Given the description of an element on the screen output the (x, y) to click on. 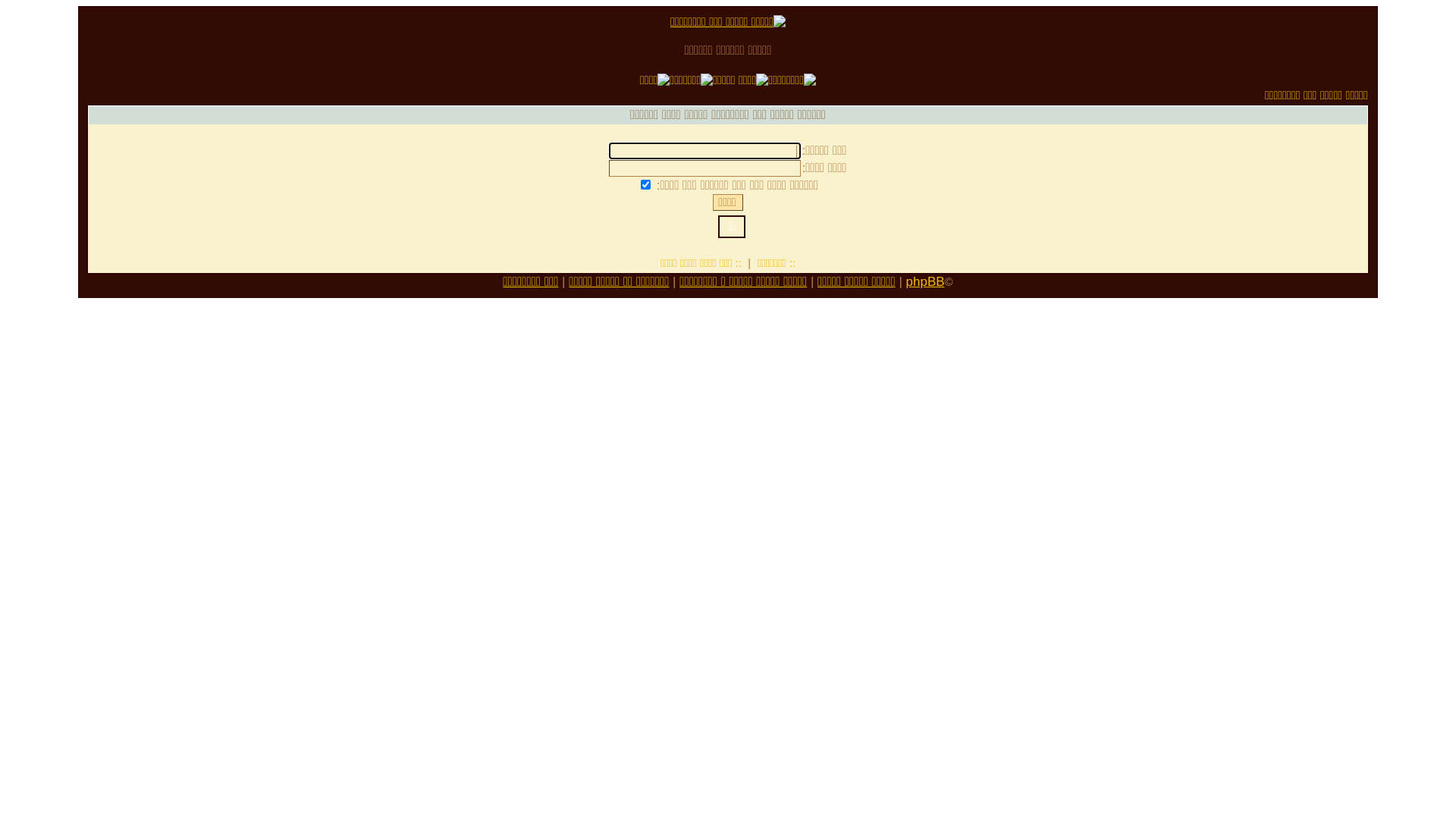
phpBB Element type: text (925, 281)
